Given the description of an element on the screen output the (x, y) to click on. 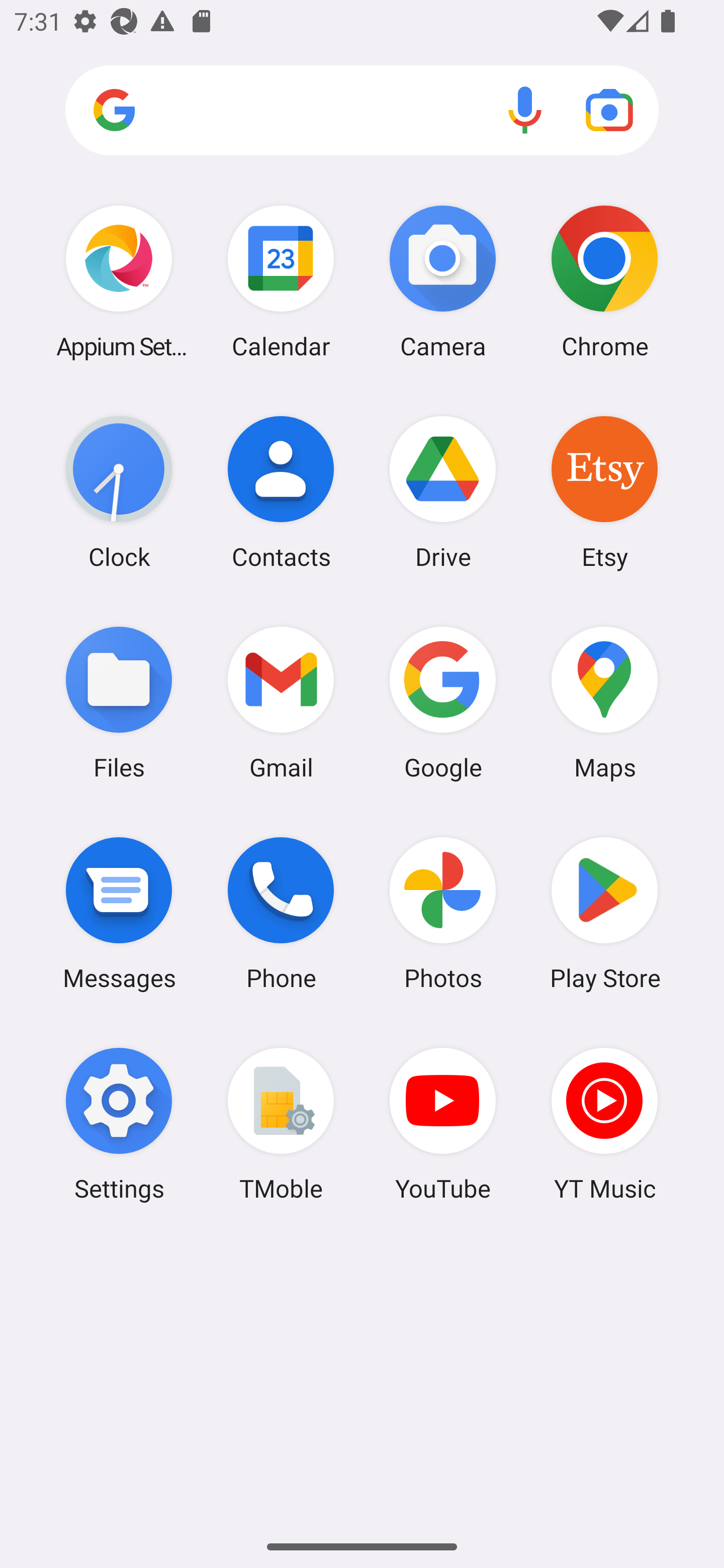
Search apps, web and more (361, 110)
Voice search (524, 109)
Google Lens (608, 109)
Appium Settings (118, 281)
Calendar (280, 281)
Camera (443, 281)
Chrome (604, 281)
Clock (118, 492)
Contacts (280, 492)
Drive (443, 492)
Etsy (604, 492)
Files (118, 702)
Gmail (280, 702)
Google (443, 702)
Maps (604, 702)
Messages (118, 913)
Phone (280, 913)
Photos (443, 913)
Play Store (604, 913)
Settings (118, 1124)
TMoble (280, 1124)
YouTube (443, 1124)
YT Music (604, 1124)
